Given the description of an element on the screen output the (x, y) to click on. 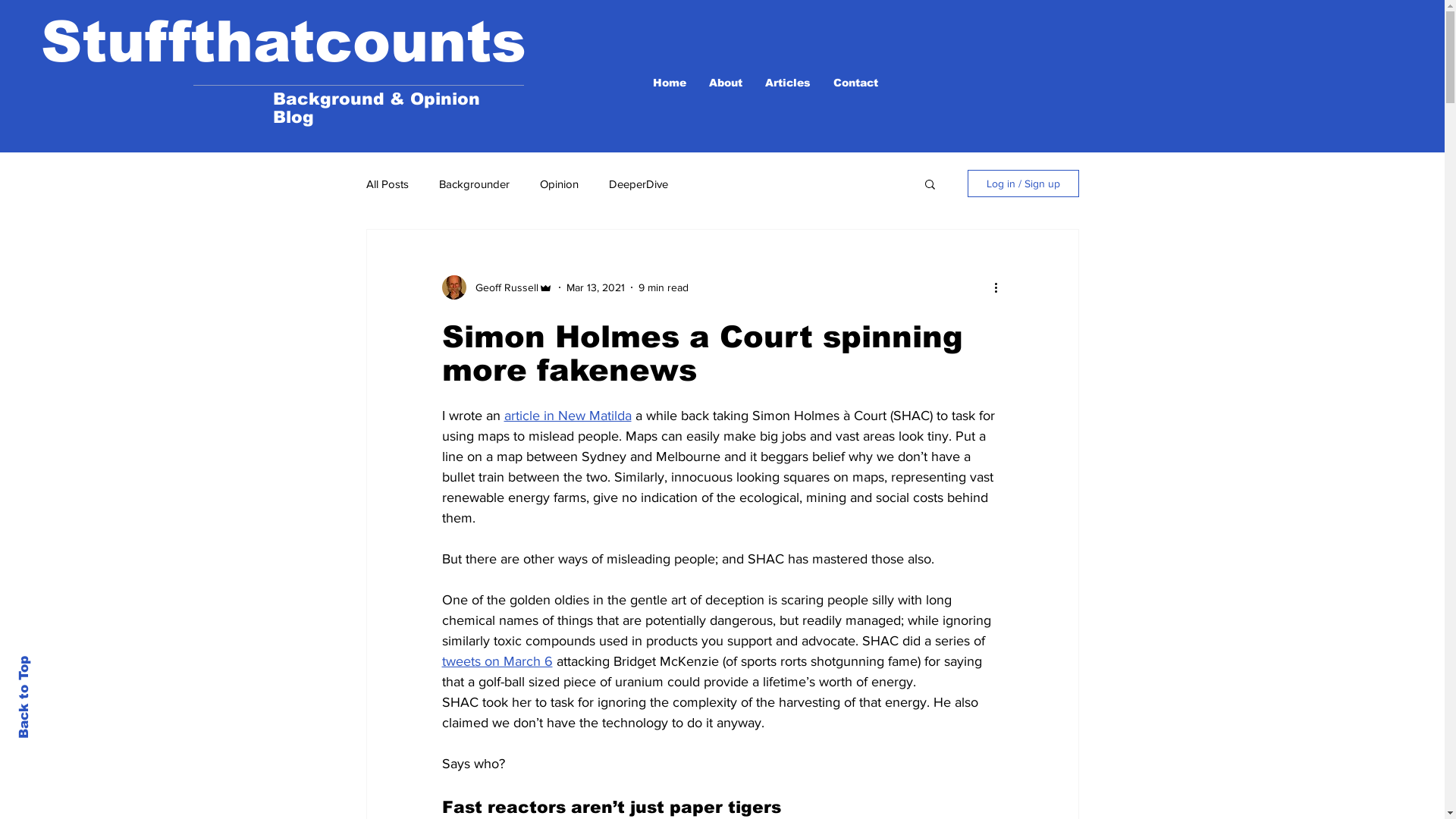
Back to Top Element type: text (57, 662)
Stuff Element type: text (115, 41)
Home Element type: text (669, 82)
Log in / Sign up Element type: text (1023, 183)
DeeperDive Element type: text (637, 183)
Articles Element type: text (787, 82)
article in New Matilda Element type: text (566, 415)
About Element type: text (725, 82)
that Element type: text (252, 41)
Backgrounder Element type: text (473, 183)
counts Element type: text (420, 41)
All Posts Element type: text (386, 183)
Opinion Element type: text (558, 183)
Contact Element type: text (855, 82)
tweets on March 6 Element type: text (496, 660)
